Given the description of an element on the screen output the (x, y) to click on. 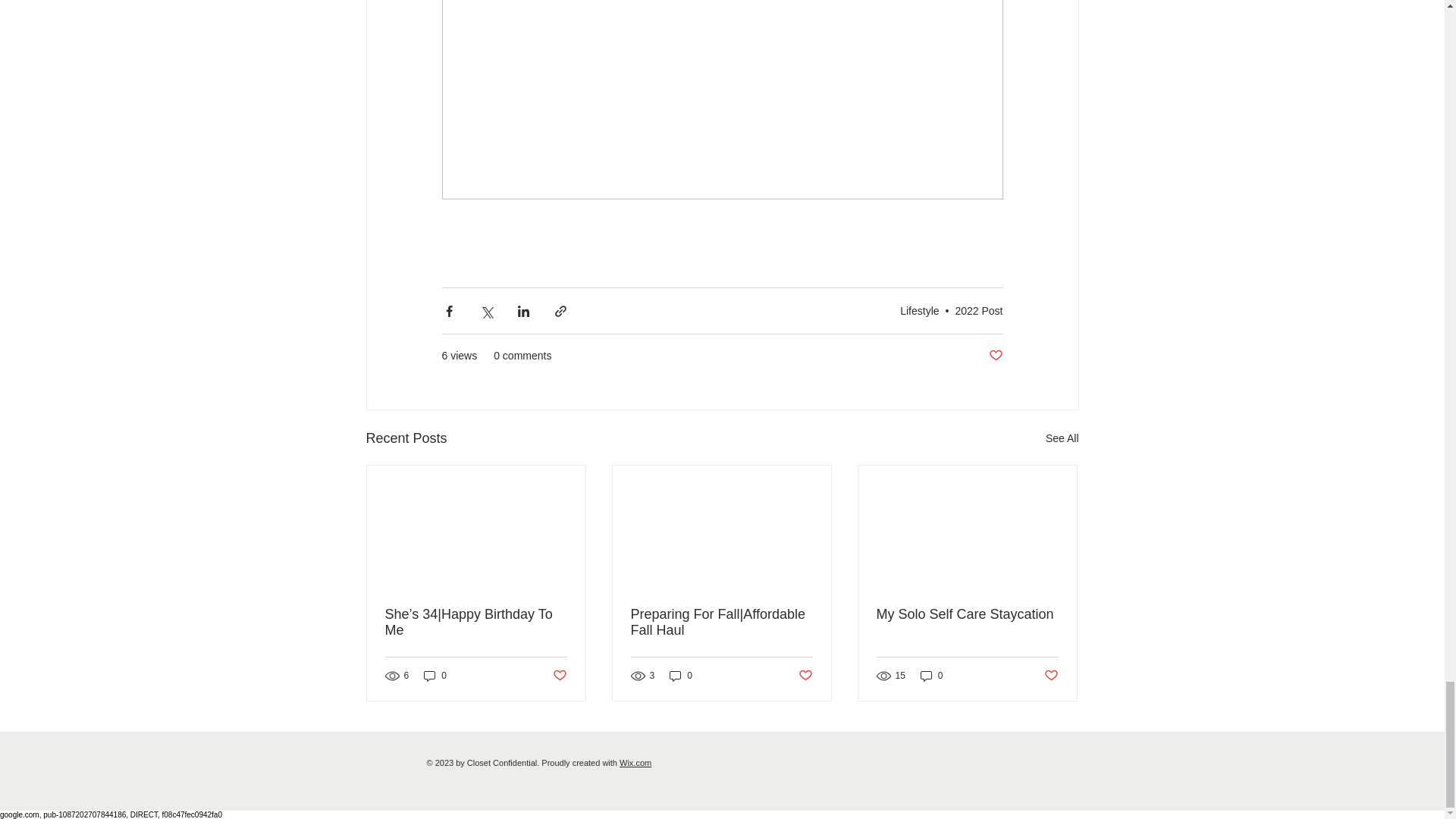
2022 Post (979, 310)
Post not marked as liked (995, 355)
See All (1061, 438)
Lifestyle (919, 310)
